Given the description of an element on the screen output the (x, y) to click on. 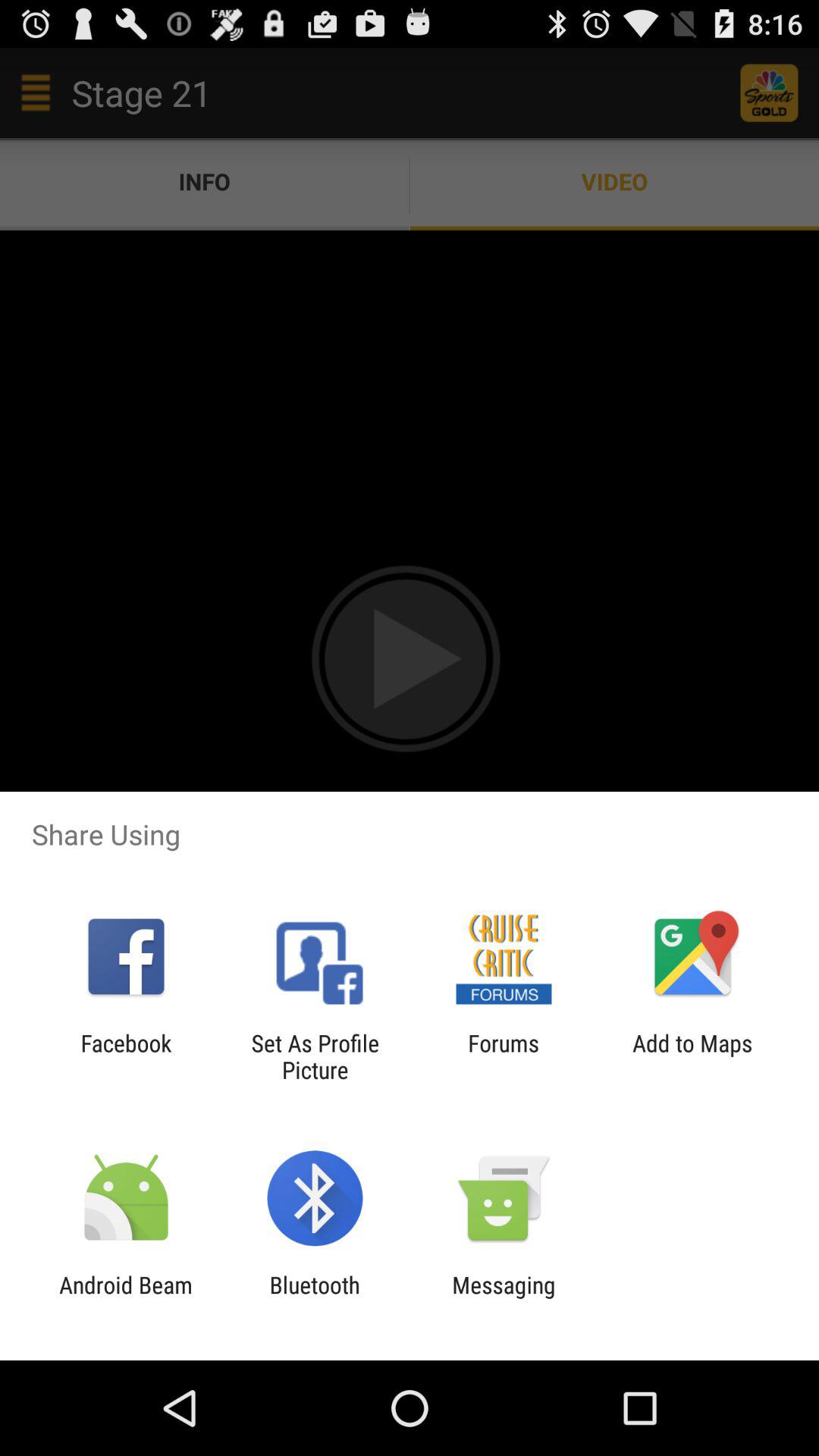
select app next to the add to maps app (503, 1056)
